Given the description of an element on the screen output the (x, y) to click on. 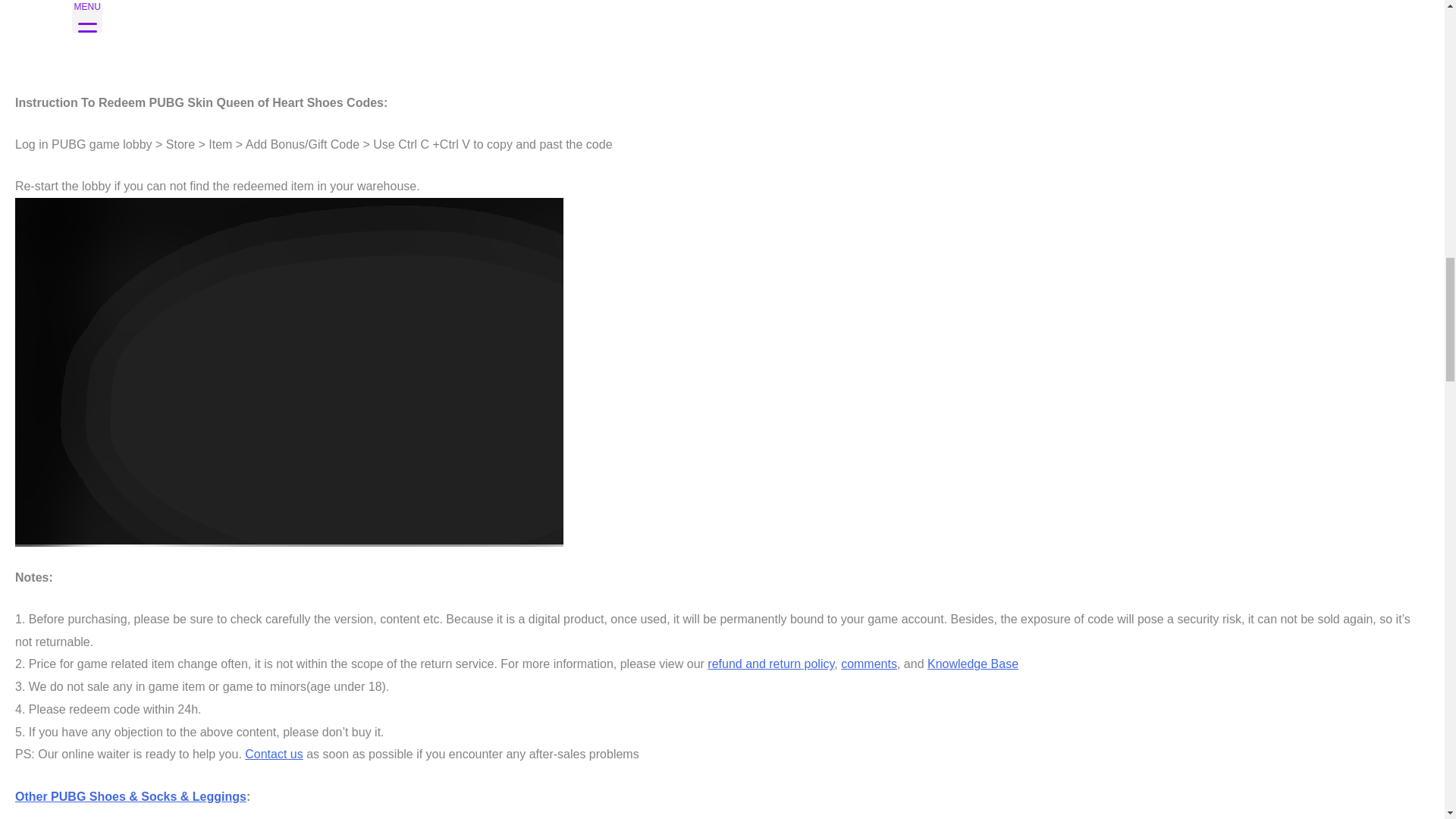
PUBG Skin Queen of Heart's Set and Victory Dance 26 (721, 45)
